Given the description of an element on the screen output the (x, y) to click on. 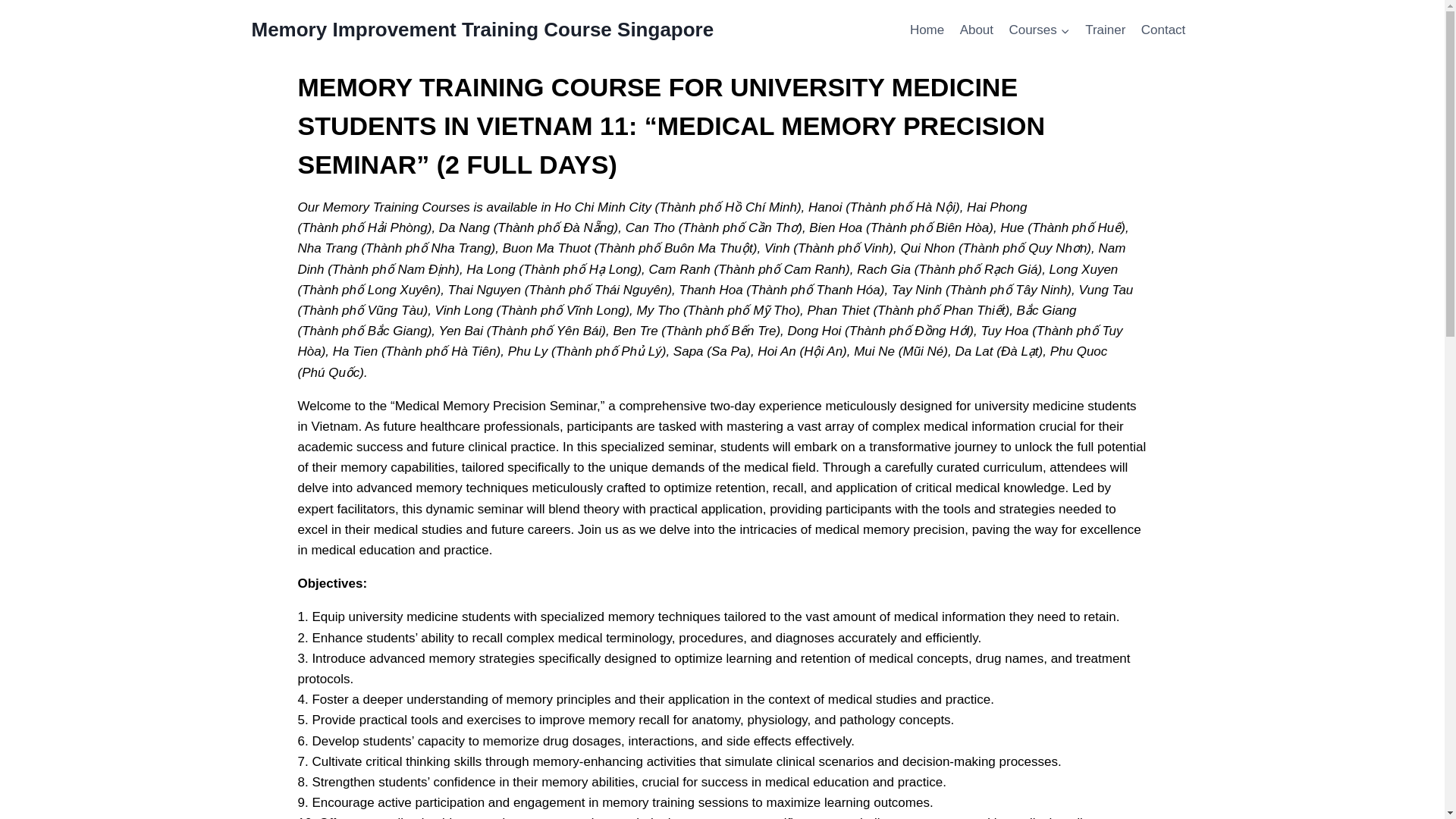
Trainer (1105, 30)
Contact (1163, 30)
Courses (1039, 30)
Memory Improvement Training Course Singapore (482, 29)
About (976, 30)
Home (927, 30)
